Given the description of an element on the screen output the (x, y) to click on. 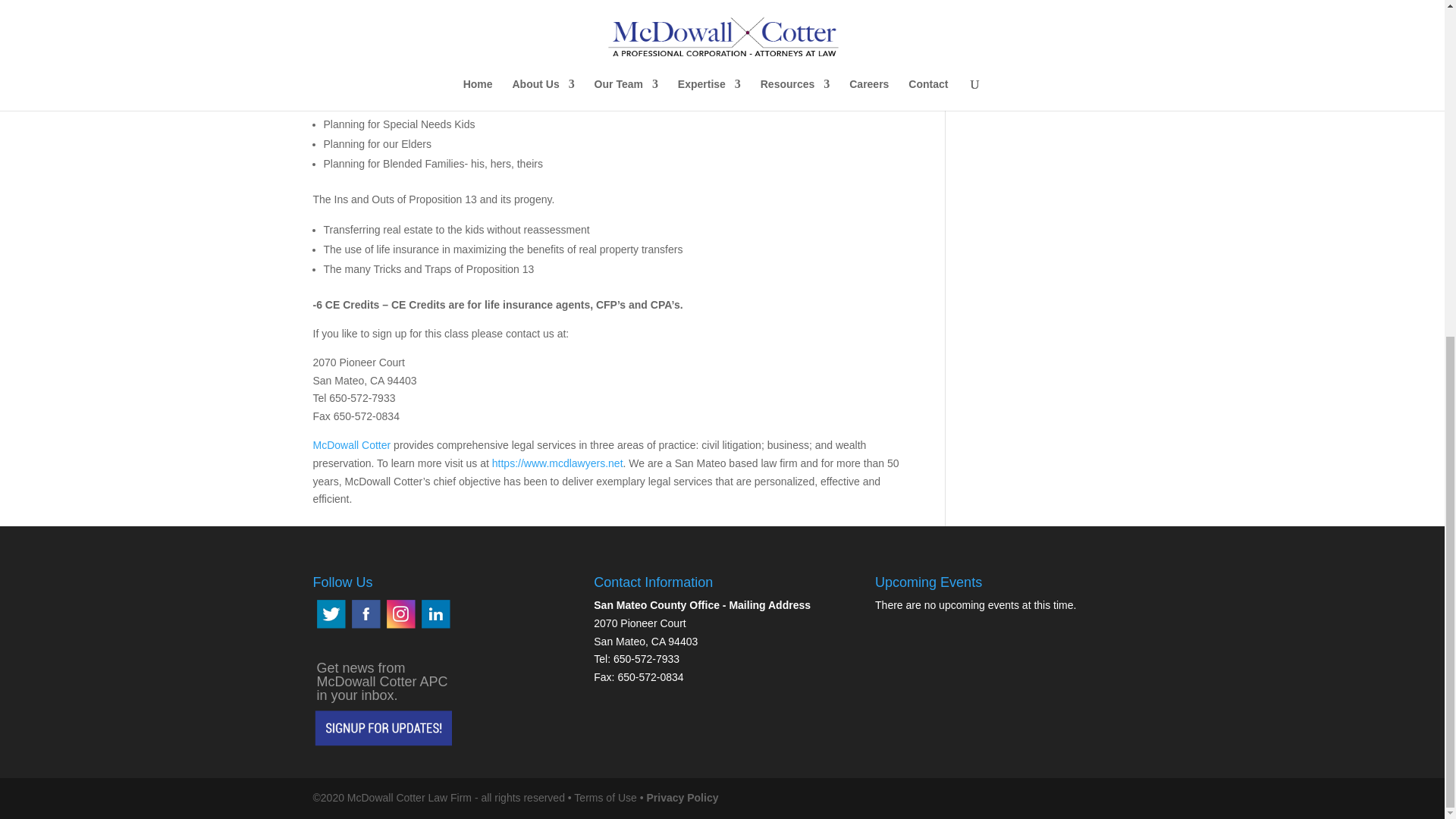
Visit Us On Twitter (330, 626)
Visit Us On Facebook (364, 626)
Visit Us On Instagram (398, 626)
Visit Us On Linkedin (433, 626)
